Given the description of an element on the screen output the (x, y) to click on. 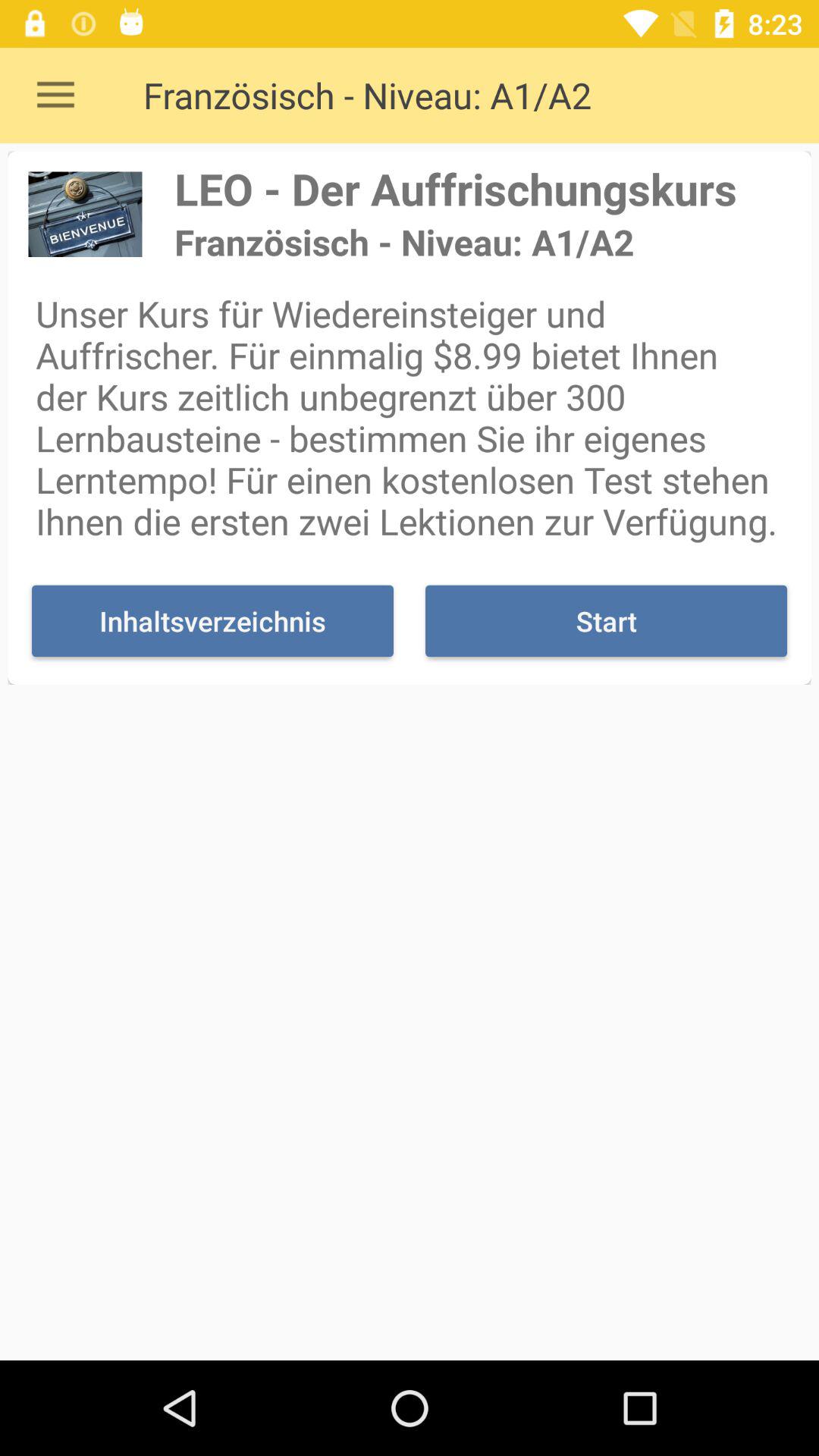
tap the item next to the start item (212, 620)
